Given the description of an element on the screen output the (x, y) to click on. 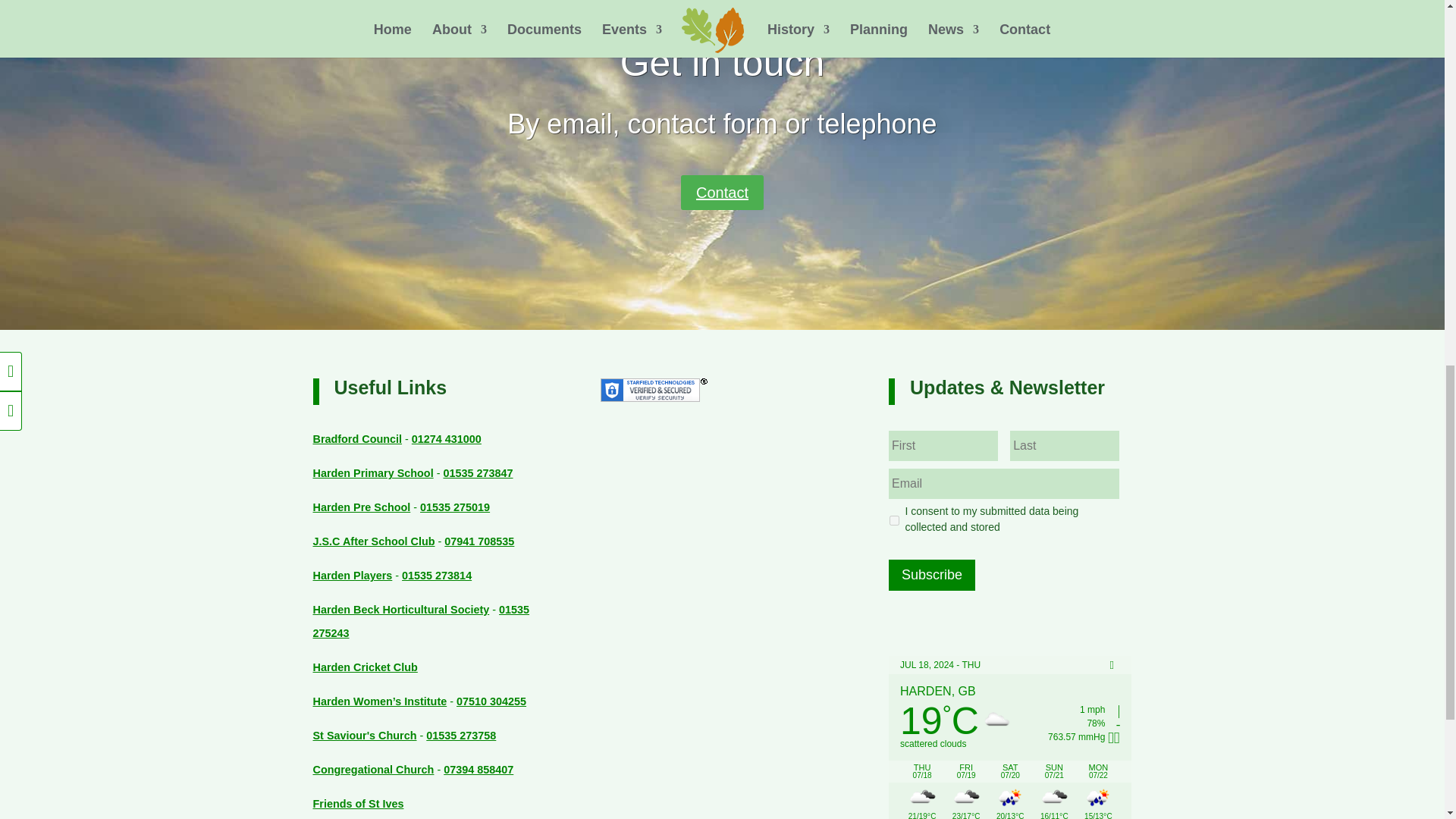
Subscribe (931, 574)
I consent to my submitted data being collected and stored (894, 520)
